Given the description of an element on the screen output the (x, y) to click on. 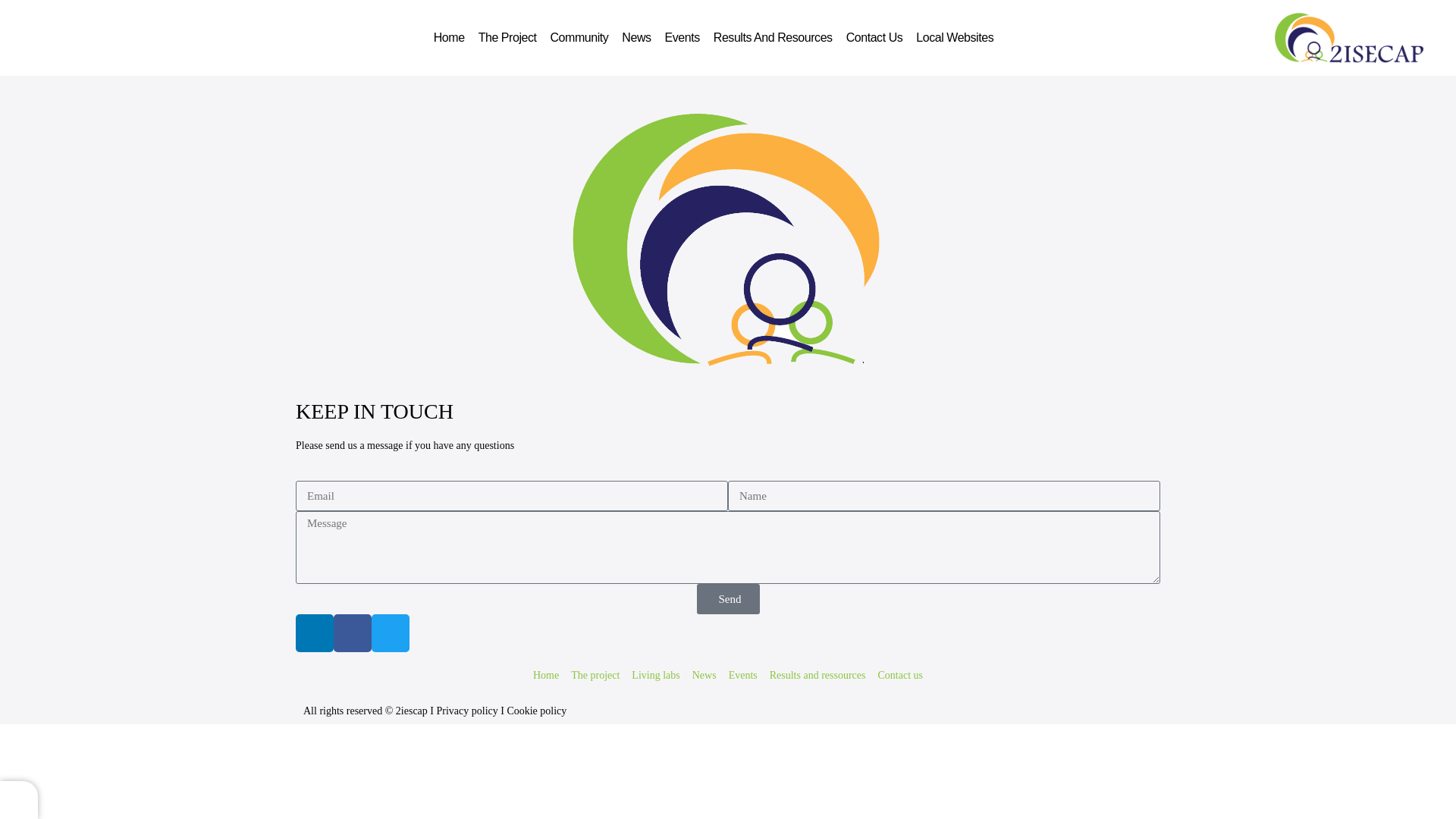
Events (682, 37)
Contact Us (875, 37)
Community (578, 37)
Home (448, 37)
The Project (507, 37)
Results And Resources (773, 37)
Local Websites (954, 37)
News (636, 37)
